Given the description of an element on the screen output the (x, y) to click on. 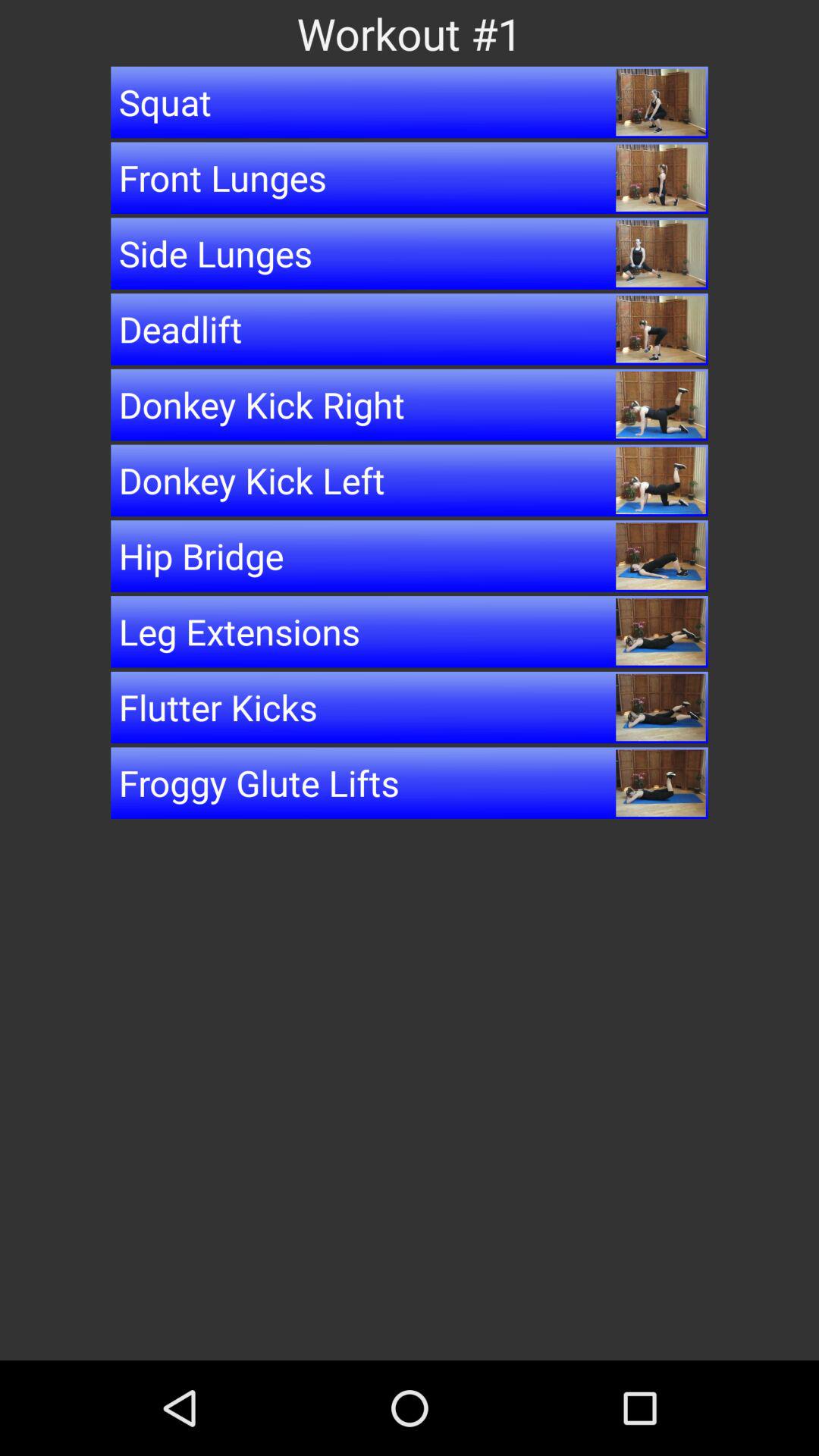
jump until flutter kicks icon (409, 707)
